Given the description of an element on the screen output the (x, y) to click on. 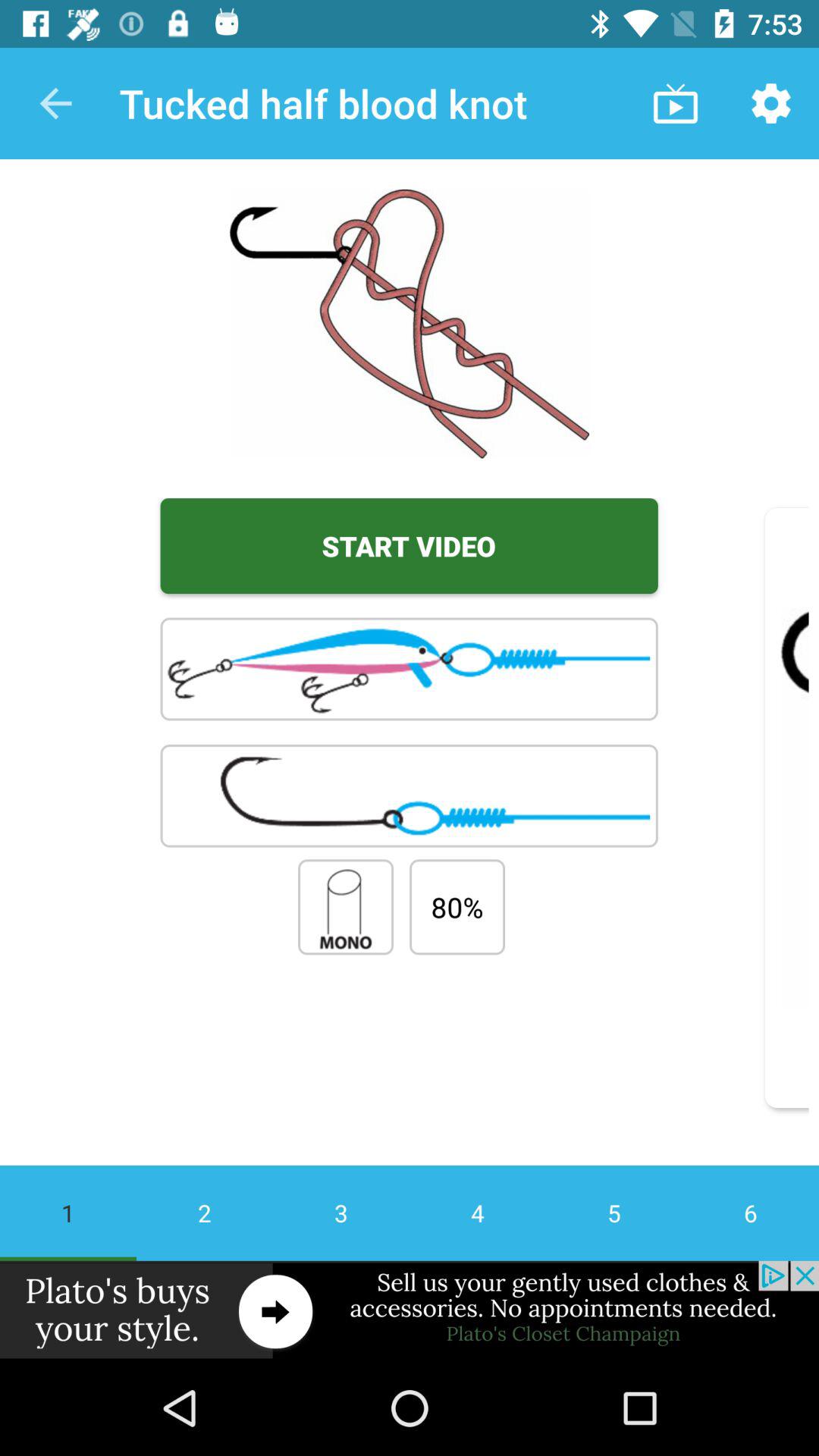
advertisement (409, 1310)
